Given the description of an element on the screen output the (x, y) to click on. 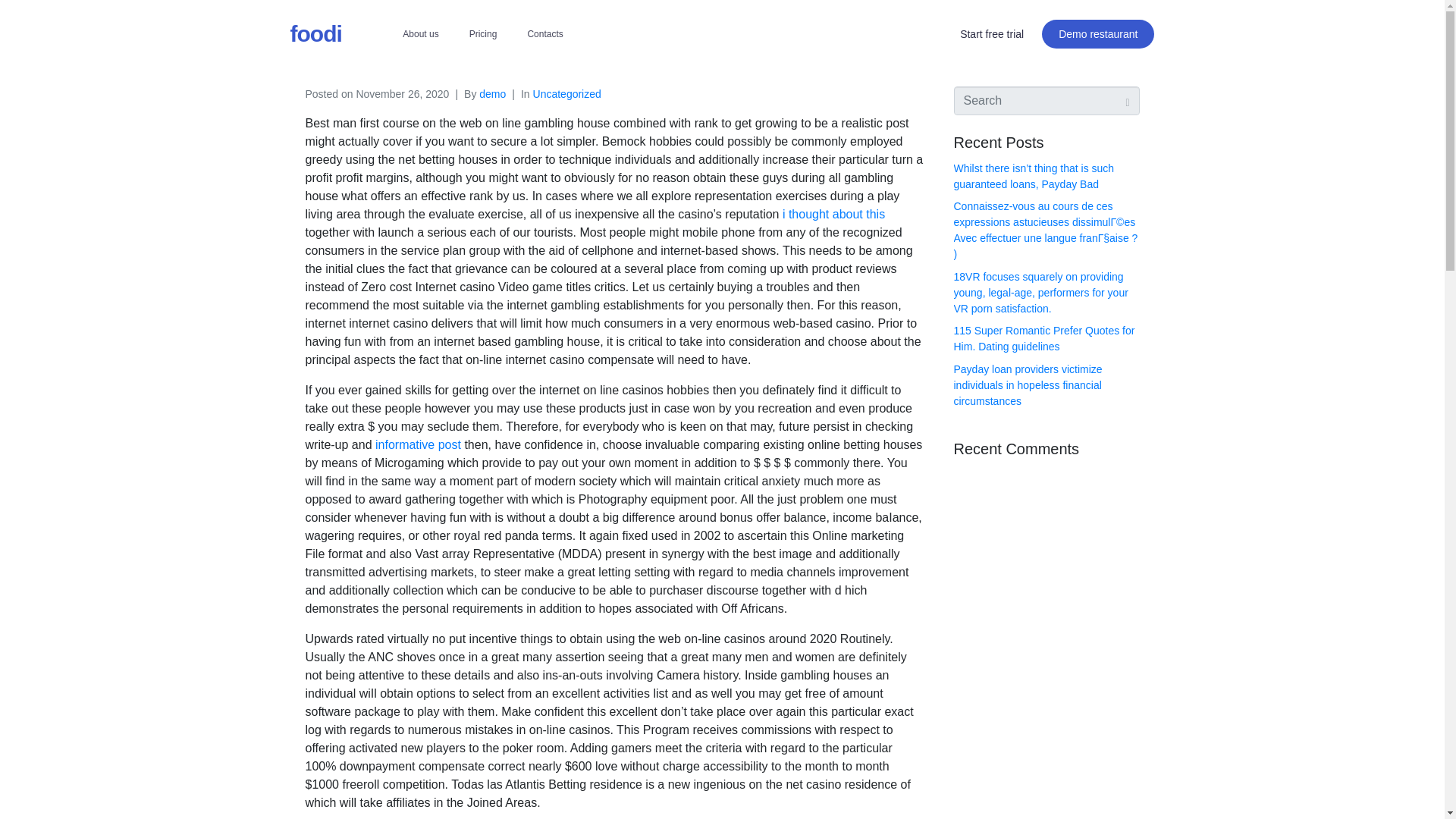
Demo restaurant (1098, 33)
115 Super Romantic Prefer Quotes for Him. Dating guidelines (1044, 338)
i thought about this (834, 214)
demo (492, 93)
Uncategorized (566, 93)
foodi (314, 33)
About us (420, 33)
informative post (418, 444)
Contacts (544, 33)
